Given the description of an element on the screen output the (x, y) to click on. 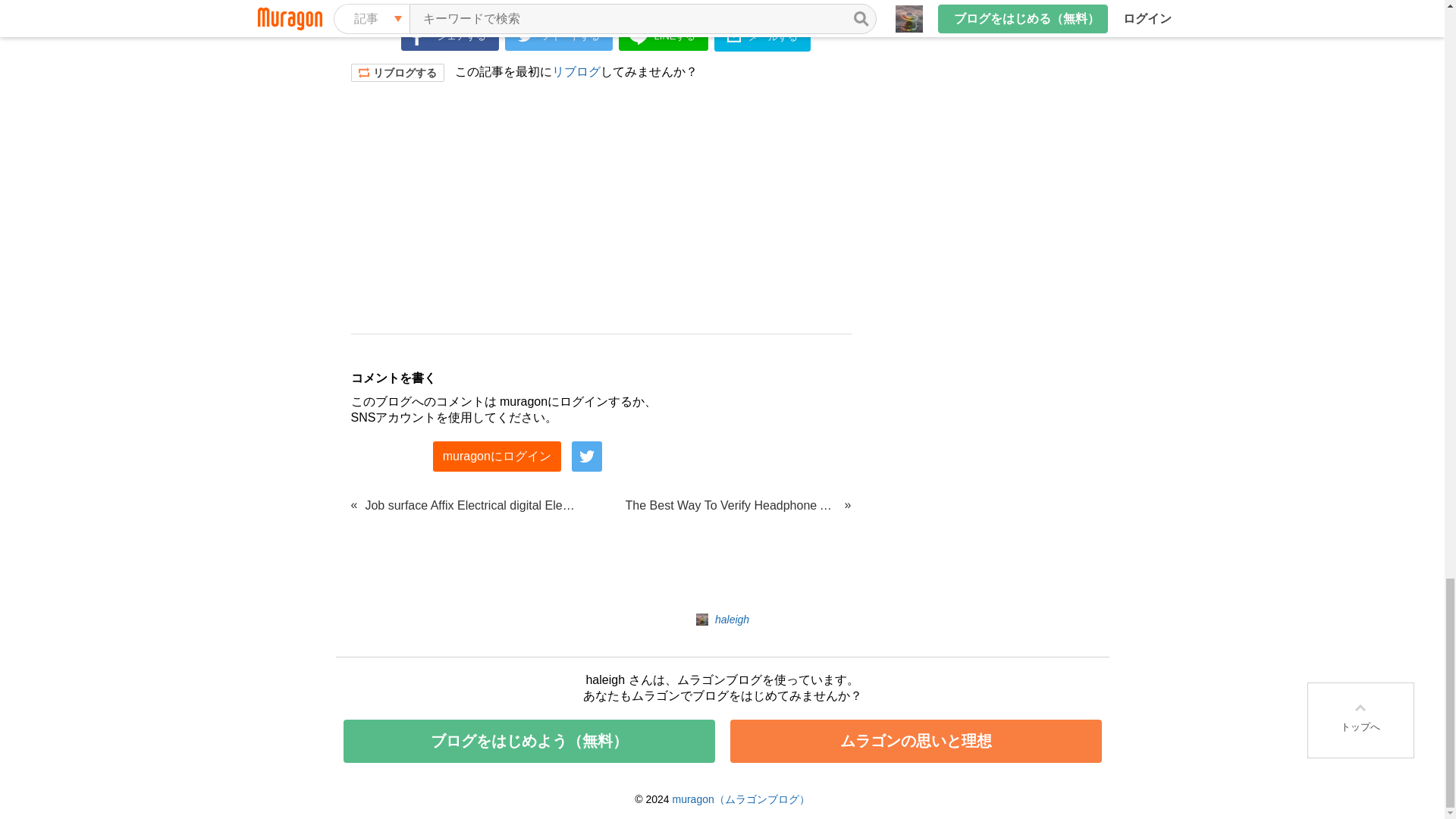
nice ! (379, 2)
